Given the description of an element on the screen output the (x, y) to click on. 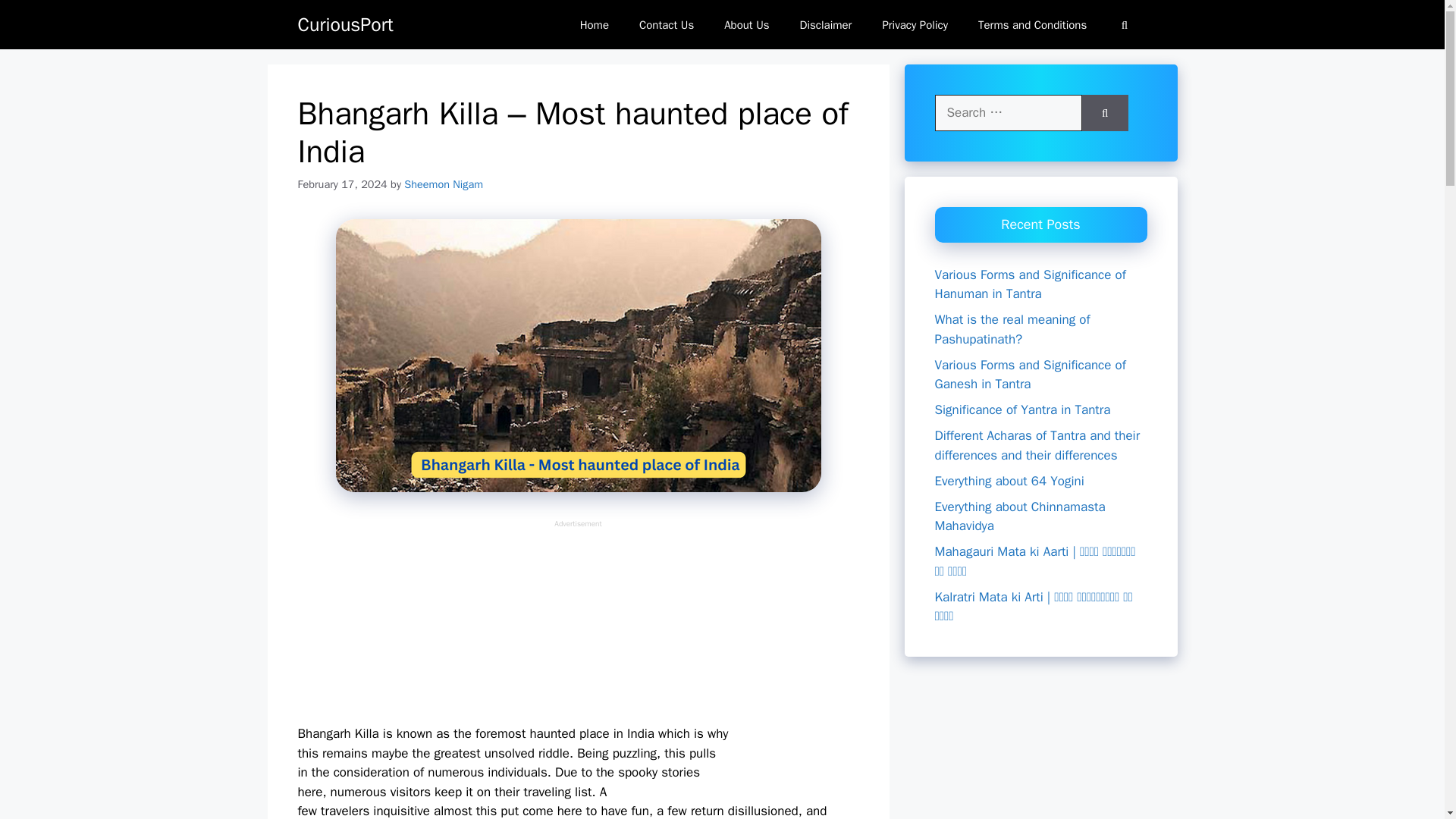
View all posts by Sheemon Nigam (443, 183)
Search for: (1007, 113)
Various Forms and Significance of Hanuman in Tantra (1029, 284)
Privacy Policy (914, 23)
CuriousPort (345, 24)
Disclaimer (825, 23)
Home (594, 23)
About Us (746, 23)
Terms and Conditions (1032, 23)
Sheemon Nigam (443, 183)
Contact Us (666, 23)
